Given the description of an element on the screen output the (x, y) to click on. 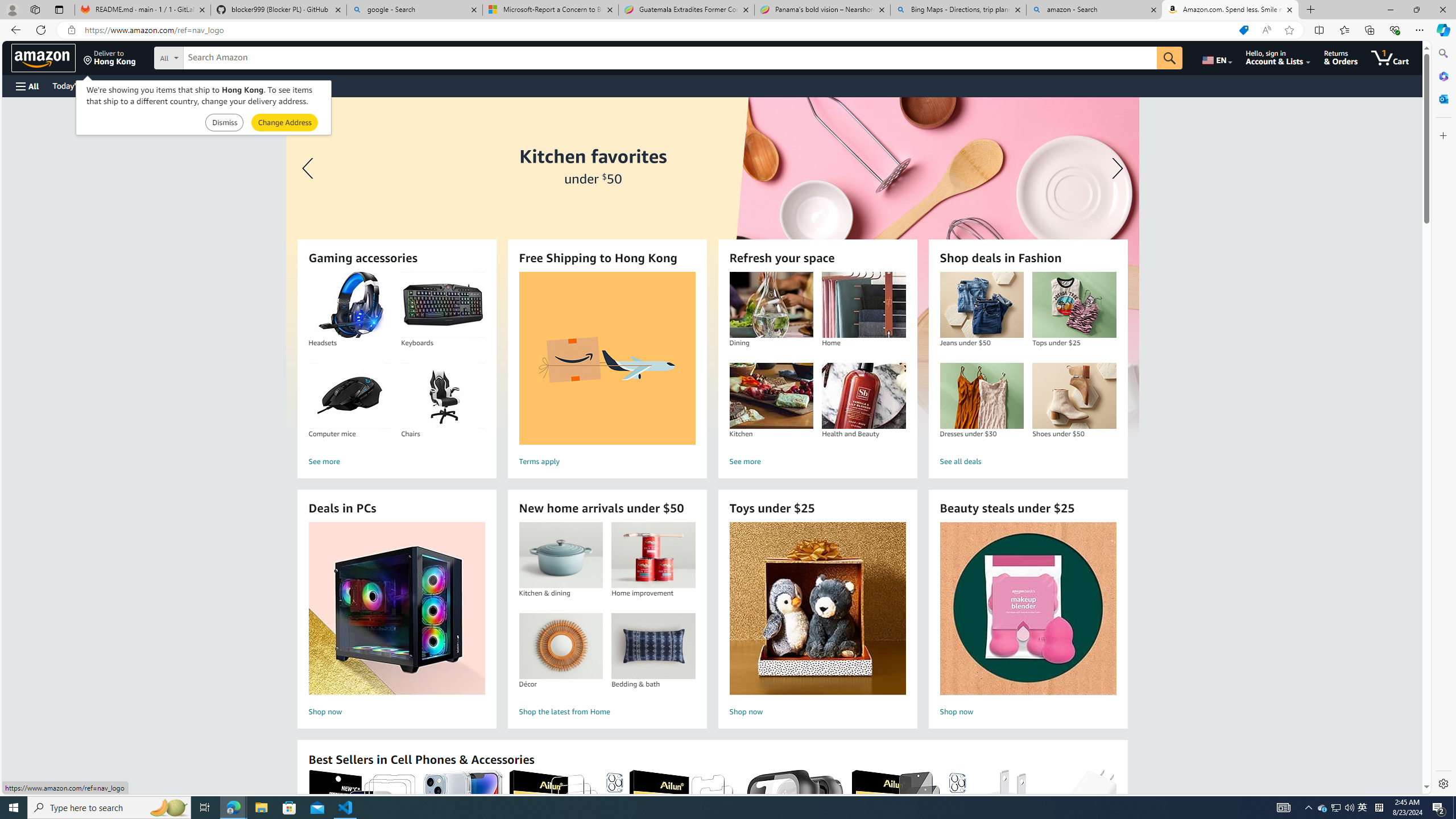
Go (1169, 57)
Toys under $25 Shop now (817, 620)
Microsoft-Report a Concern to Bing (550, 9)
Deals in PCs Shop now (396, 620)
Gift Cards (251, 85)
Hello, sign in Account & Lists (1278, 57)
Back (13, 29)
Add this page to favorites (Ctrl+D) (1289, 29)
Registry (205, 85)
Chairs (443, 395)
Class: a-carousel-card (711, 267)
Deals in PCs (395, 608)
Sell (290, 85)
